Given the description of an element on the screen output the (x, y) to click on. 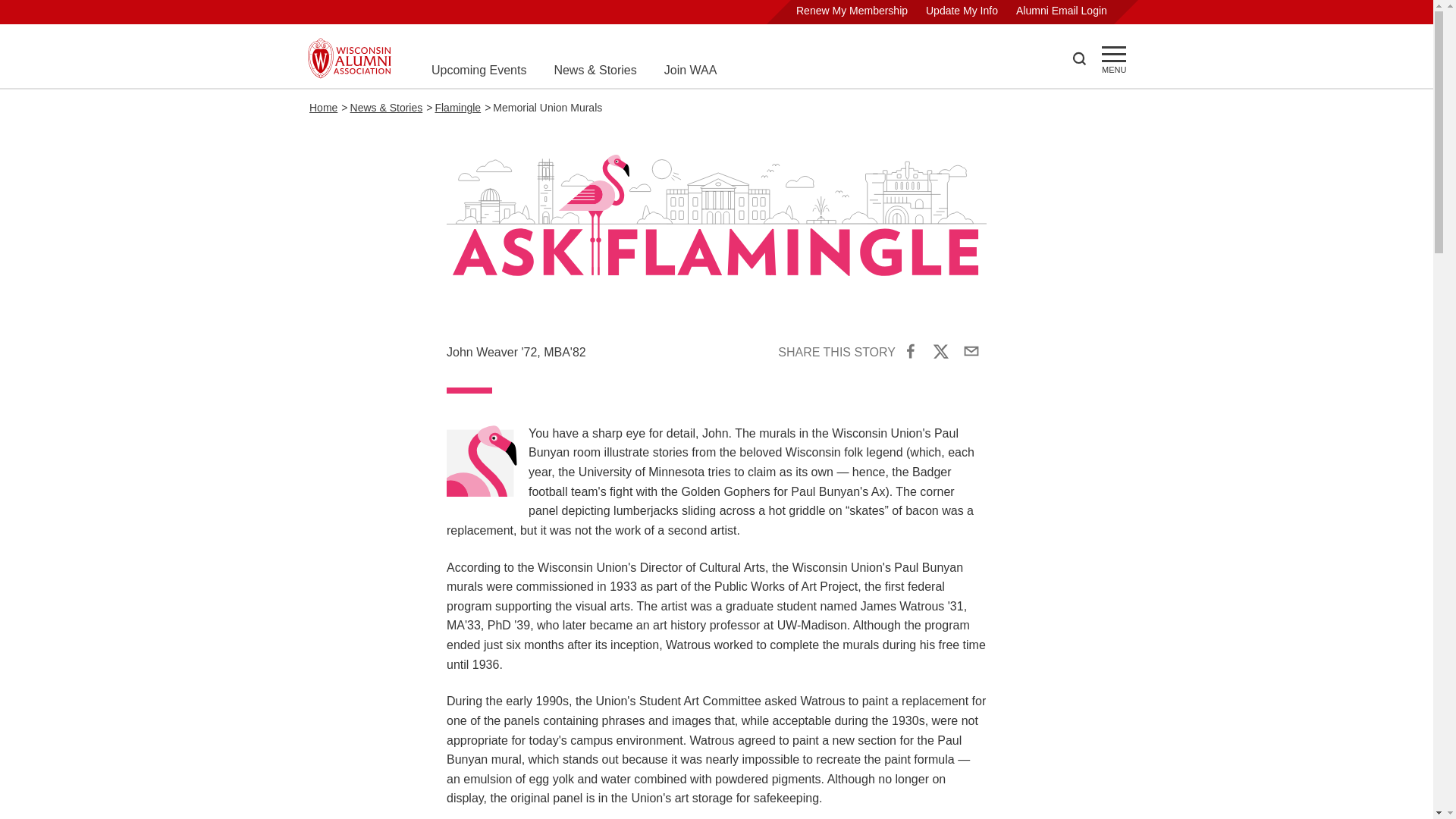
Upcoming Events (477, 70)
Update My Info (961, 10)
Join WAA (690, 70)
Flamingle (456, 107)
Alumni Email Login (1061, 10)
Home (322, 107)
Renew My Membership (851, 10)
